Given the description of an element on the screen output the (x, y) to click on. 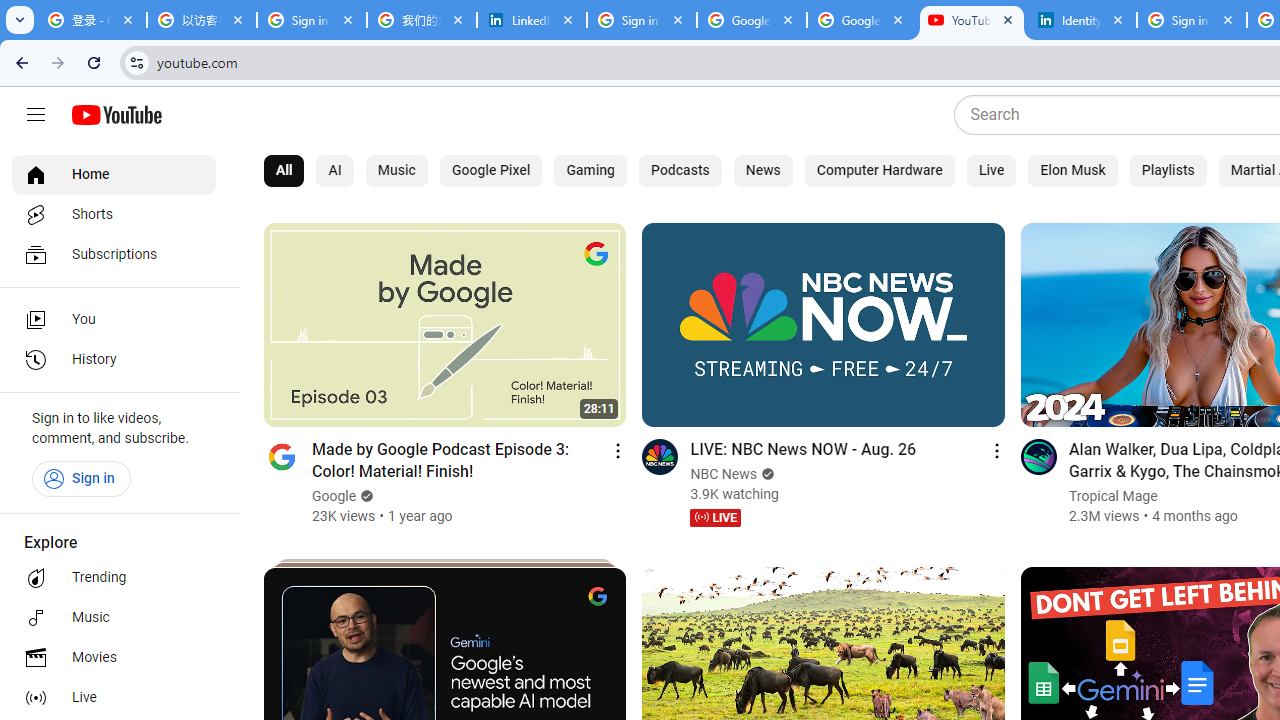
YouTube Home (116, 115)
Playlists (1167, 170)
Shorts (113, 214)
Music (113, 617)
Trending (113, 578)
Go to channel (1038, 456)
YouTube (971, 20)
Subscriptions (113, 254)
